Given the description of an element on the screen output the (x, y) to click on. 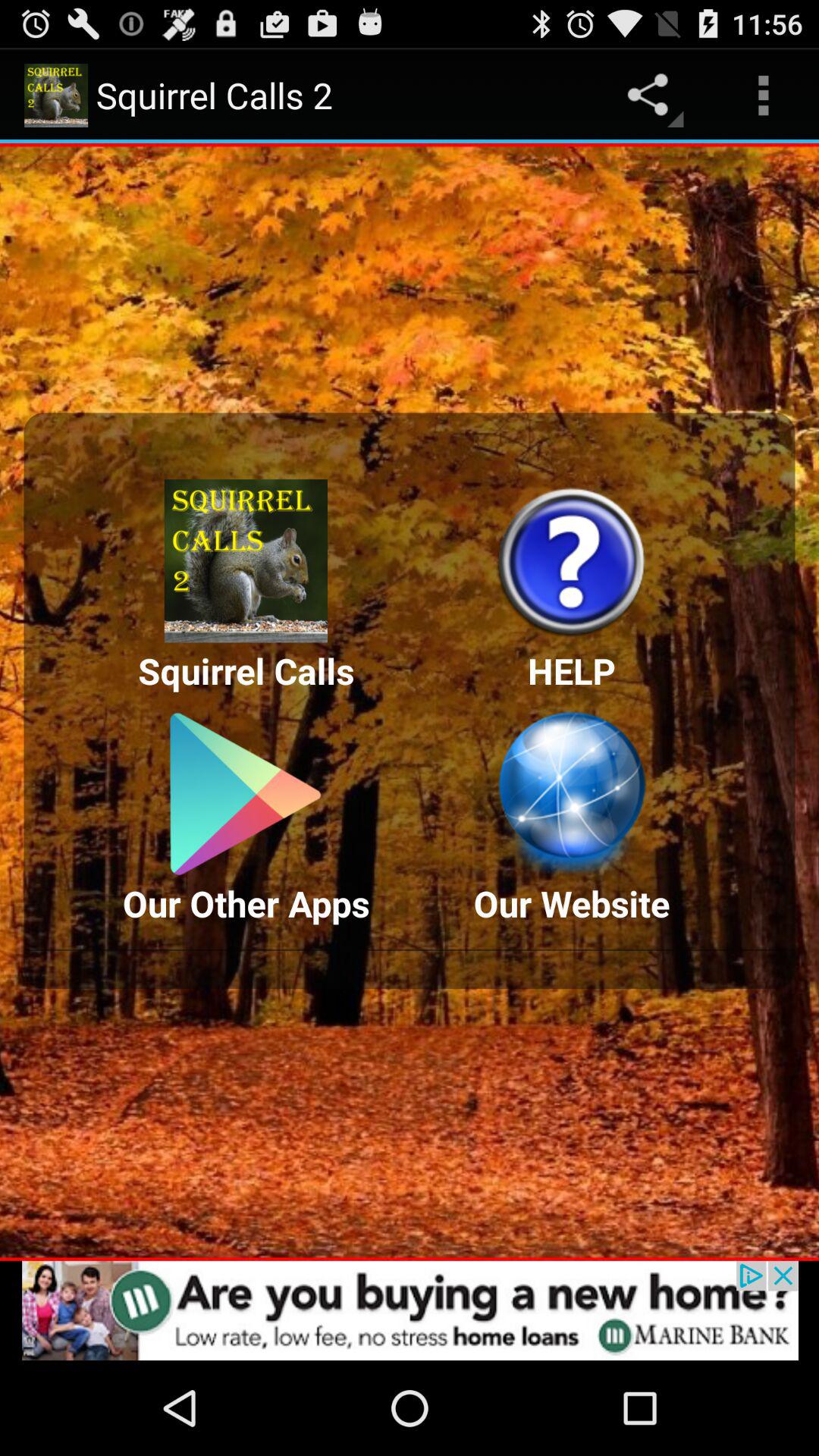
advertisement (409, 1310)
